Given the description of an element on the screen output the (x, y) to click on. 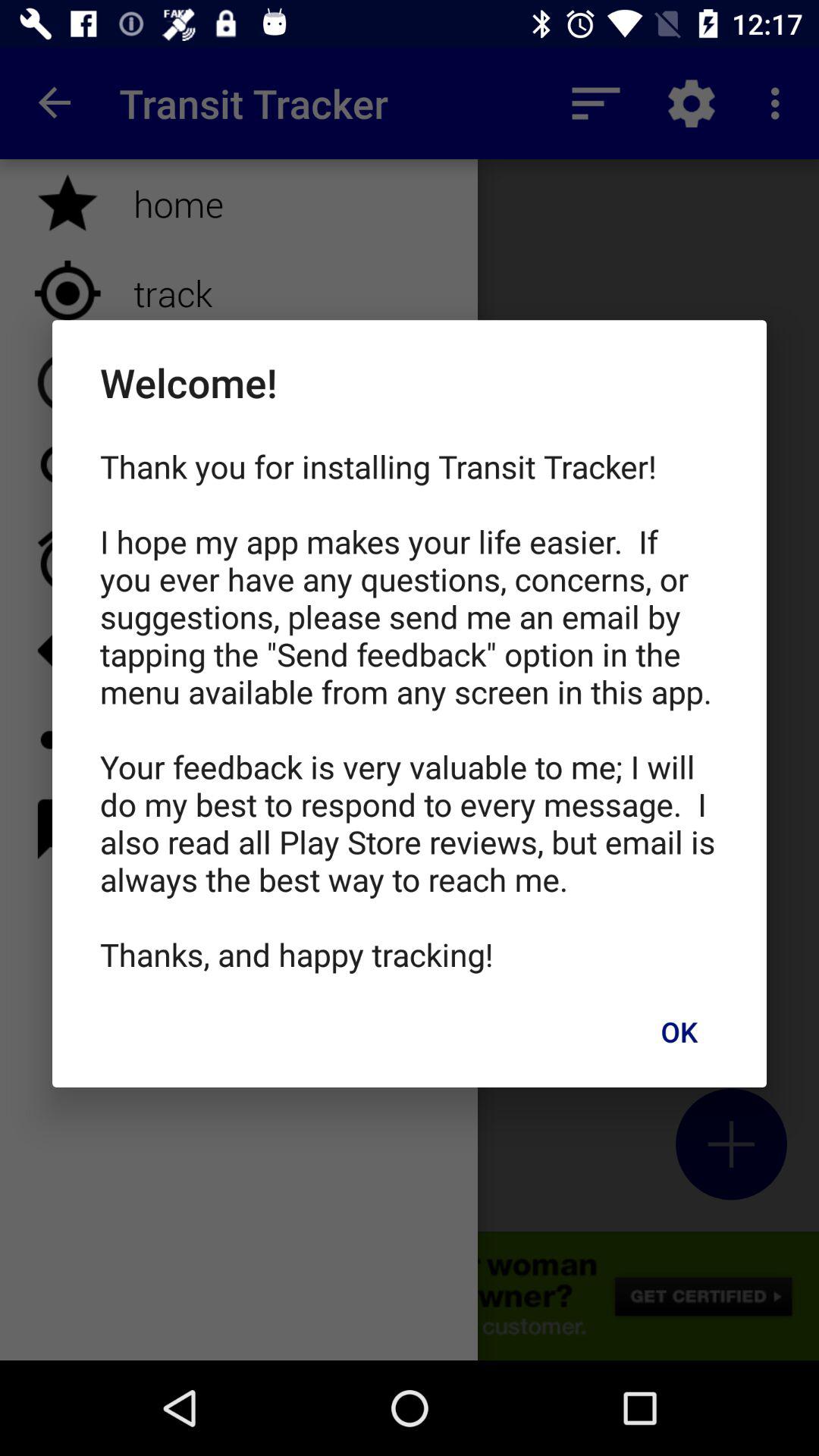
tap the item below thank you for (678, 1031)
